Given the description of an element on the screen output the (x, y) to click on. 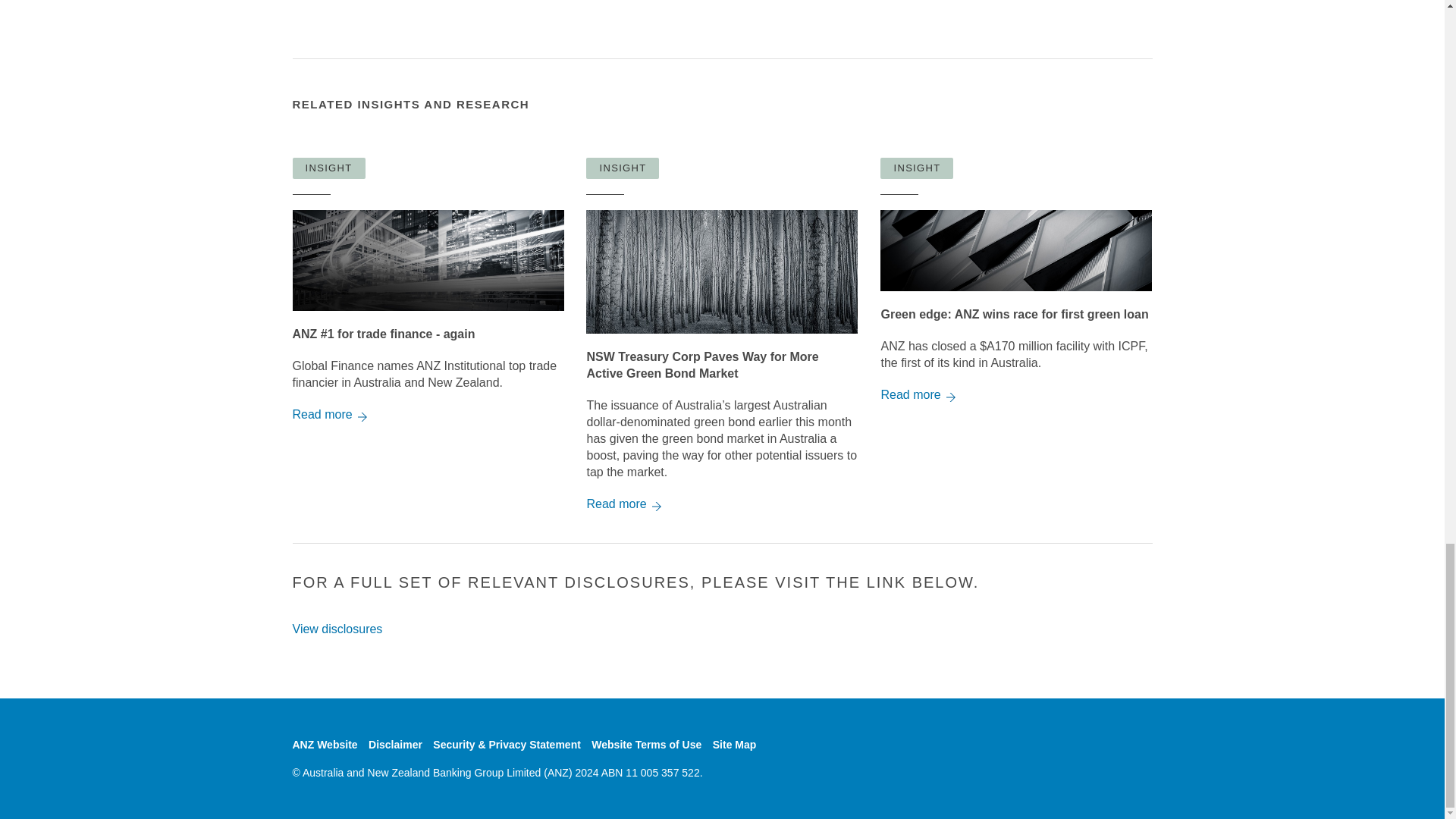
ANZ Website (325, 744)
Disclaimer (395, 744)
